Given the description of an element on the screen output the (x, y) to click on. 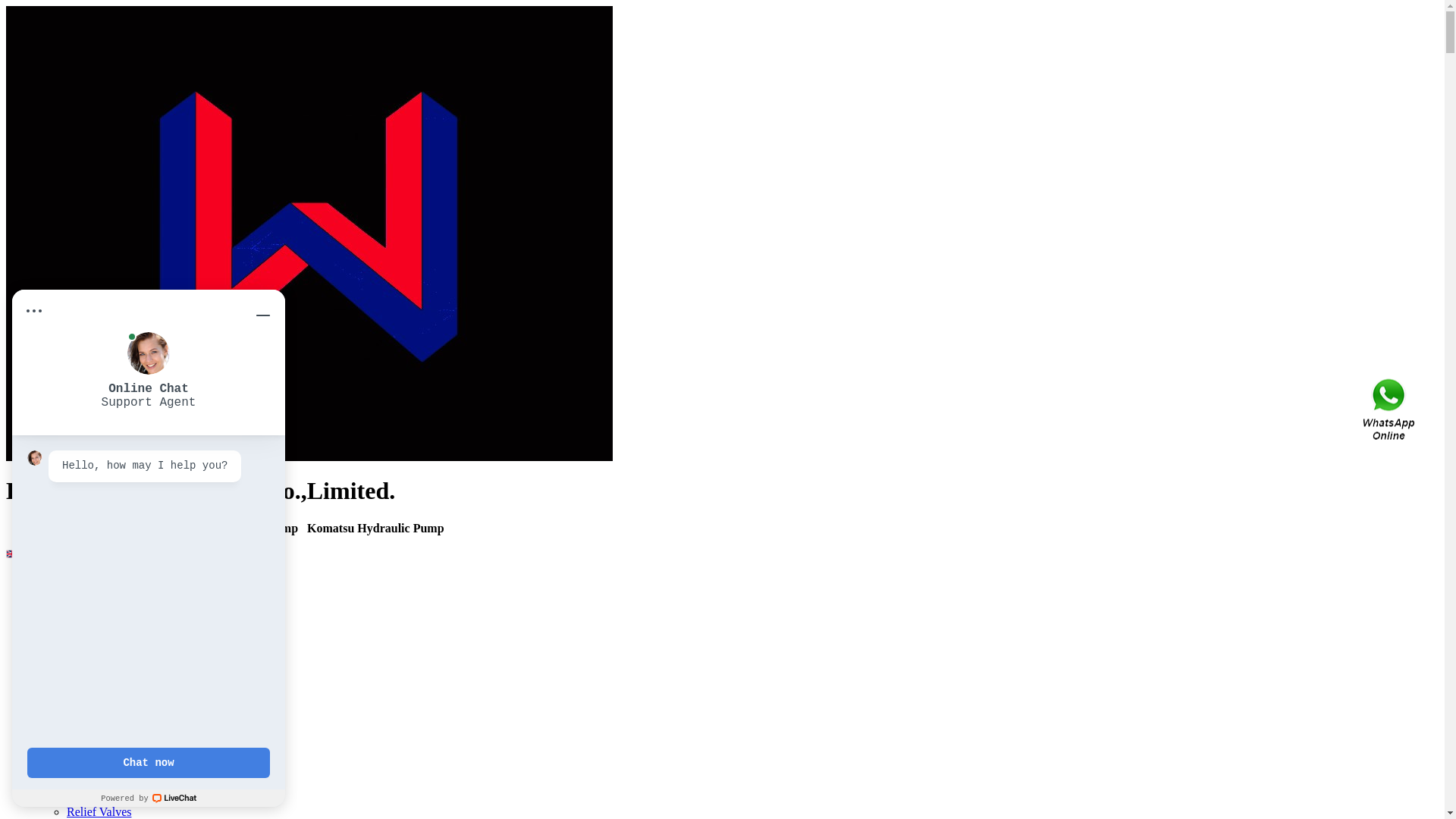
Leader Hydraulic Pump Co.,Limited. Element type: hover (309, 456)
Eaton Hydraulic Pump Element type: text (122, 674)
Contact Us Element type: hover (1389, 409)
Control Valves Element type: text (102, 784)
Piston Pumps Element type: text (99, 729)
Check Valves Element type: text (99, 797)
Sauer Danfoss Hydraulic Pump Element type: text (142, 688)
Rexroth Hydraulic Pump Element type: text (127, 606)
Bosch Hydraulic Pump Element type: text (122, 620)
Solenoid Directional Valves Element type: text (134, 770)
Komatsu Hydraulic Pump Element type: text (129, 633)
Hitachi Hydraulic Pump Element type: text (125, 661)
Vane pumps Element type: text (96, 702)
Relief Valves Element type: text (98, 811)
Linde Hydraulic Pump Element type: text (122, 647)
Gear Pumps Element type: text (96, 715)
Pressure Valves Element type: text (104, 756)
Hydraulic Pump in stock Element type: text (127, 743)
Home Element type: text (50, 579)
Stock Categories Element type: text (77, 592)
